Given the description of an element on the screen output the (x, y) to click on. 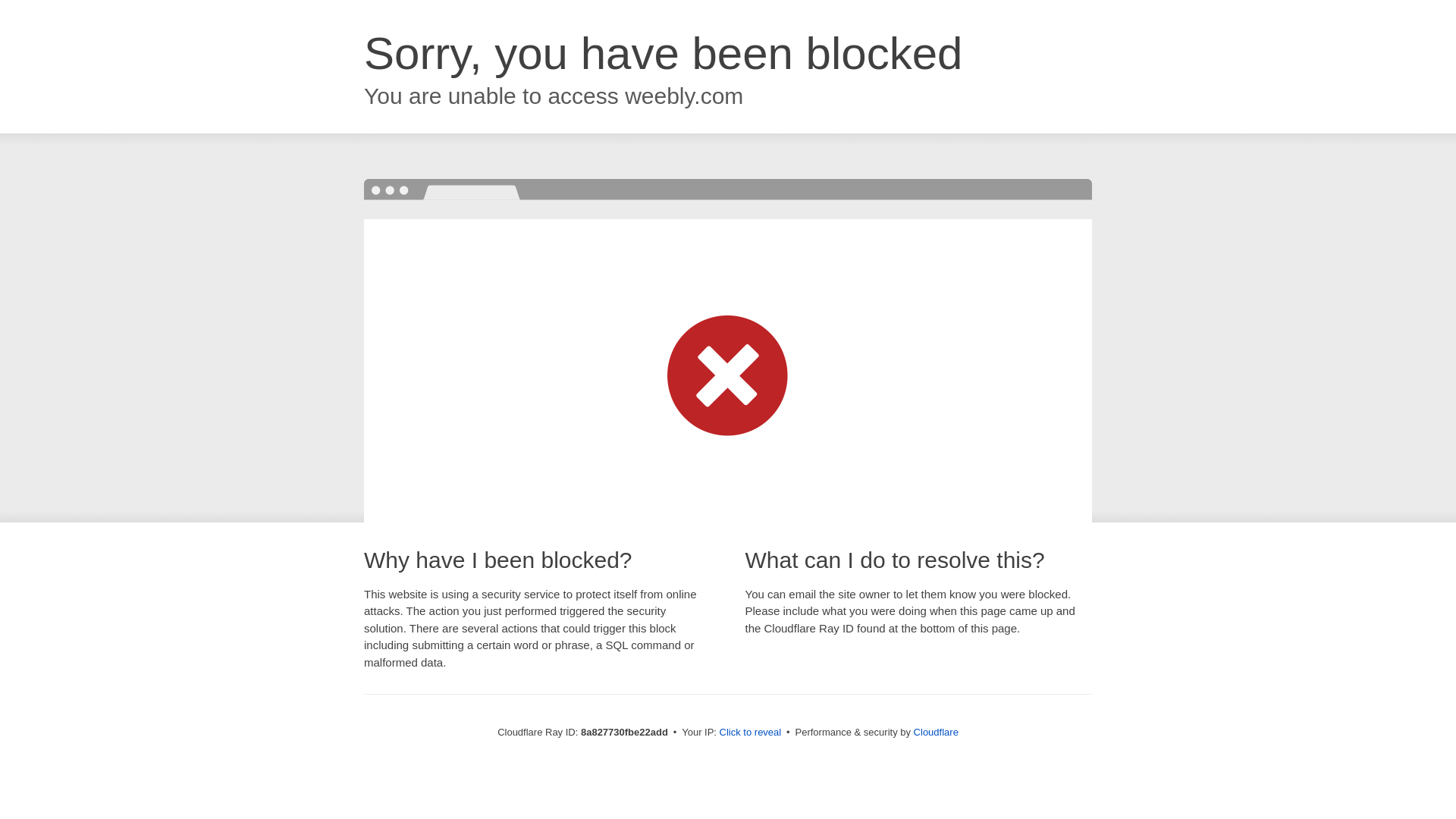
Click to reveal (750, 732)
Cloudflare (936, 731)
